Given the description of an element on the screen output the (x, y) to click on. 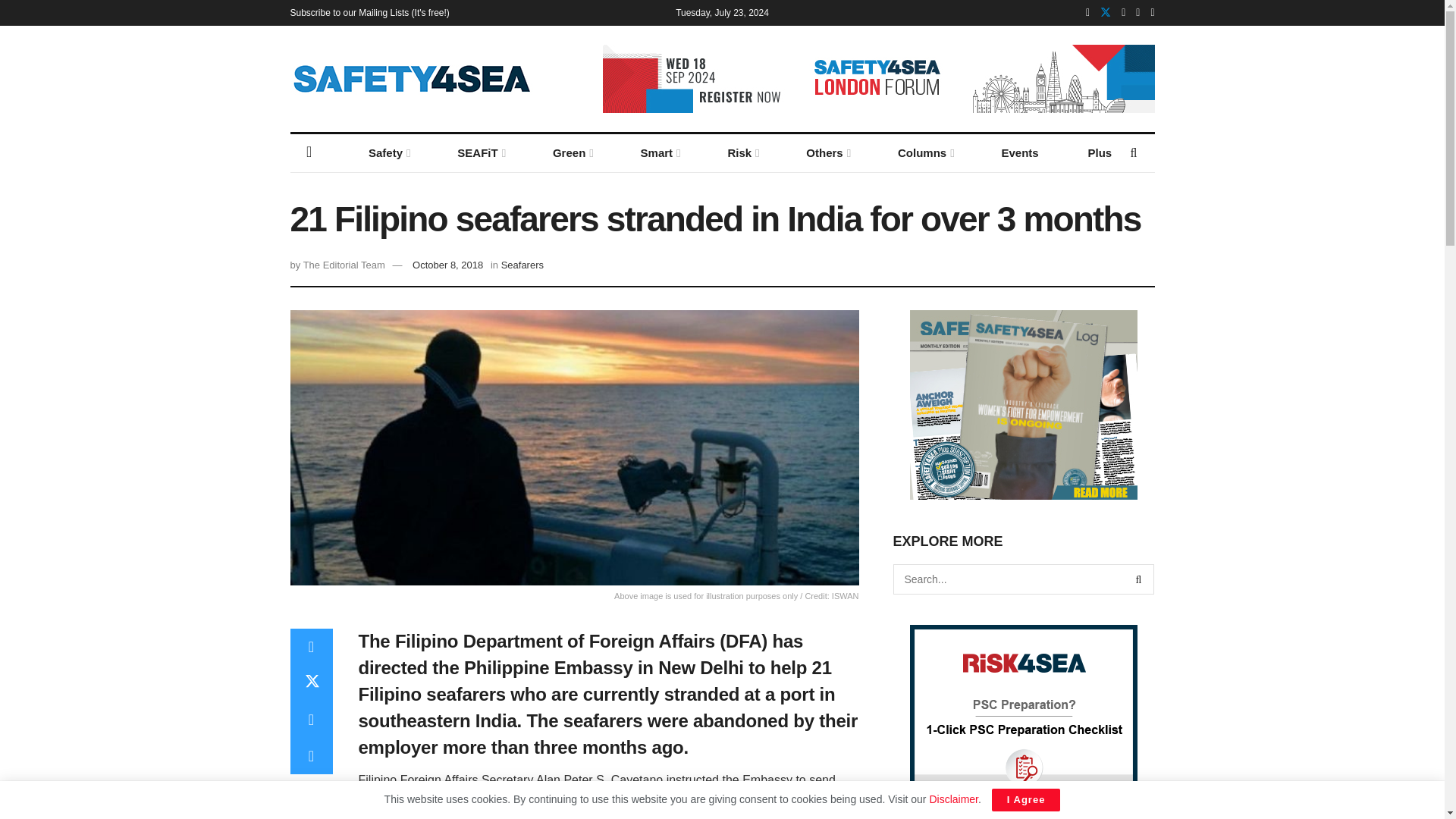
Safety (388, 152)
SEAFiT (480, 152)
